Given the description of an element on the screen output the (x, y) to click on. 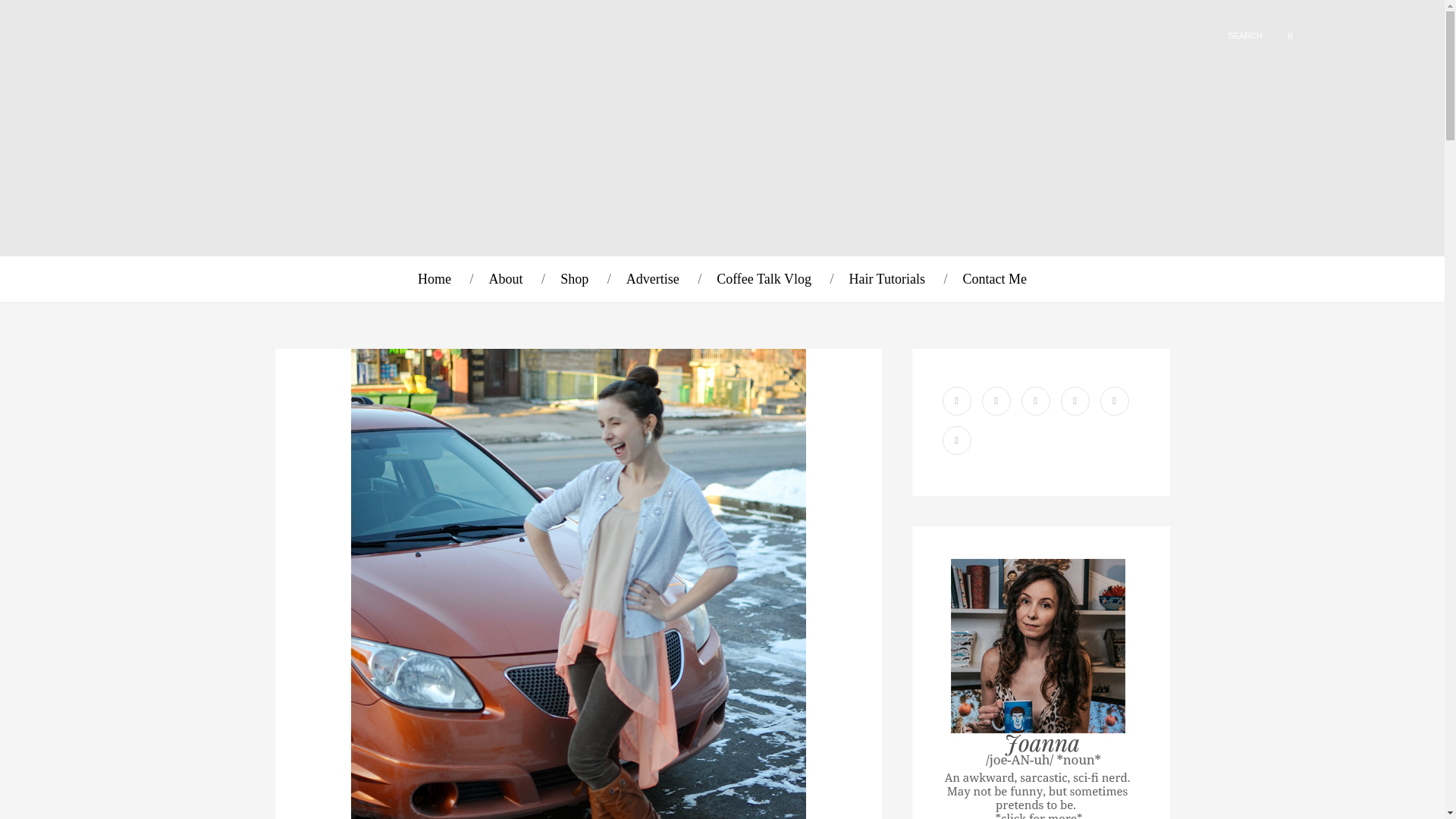
Search (1280, 35)
Advertise (652, 278)
Coffee Talk Vlog (763, 278)
About (505, 278)
SEARCH (1220, 35)
Home (434, 278)
Contact Me (994, 278)
Hair Tutorials (886, 278)
Shop (574, 278)
